Given the description of an element on the screen output the (x, y) to click on. 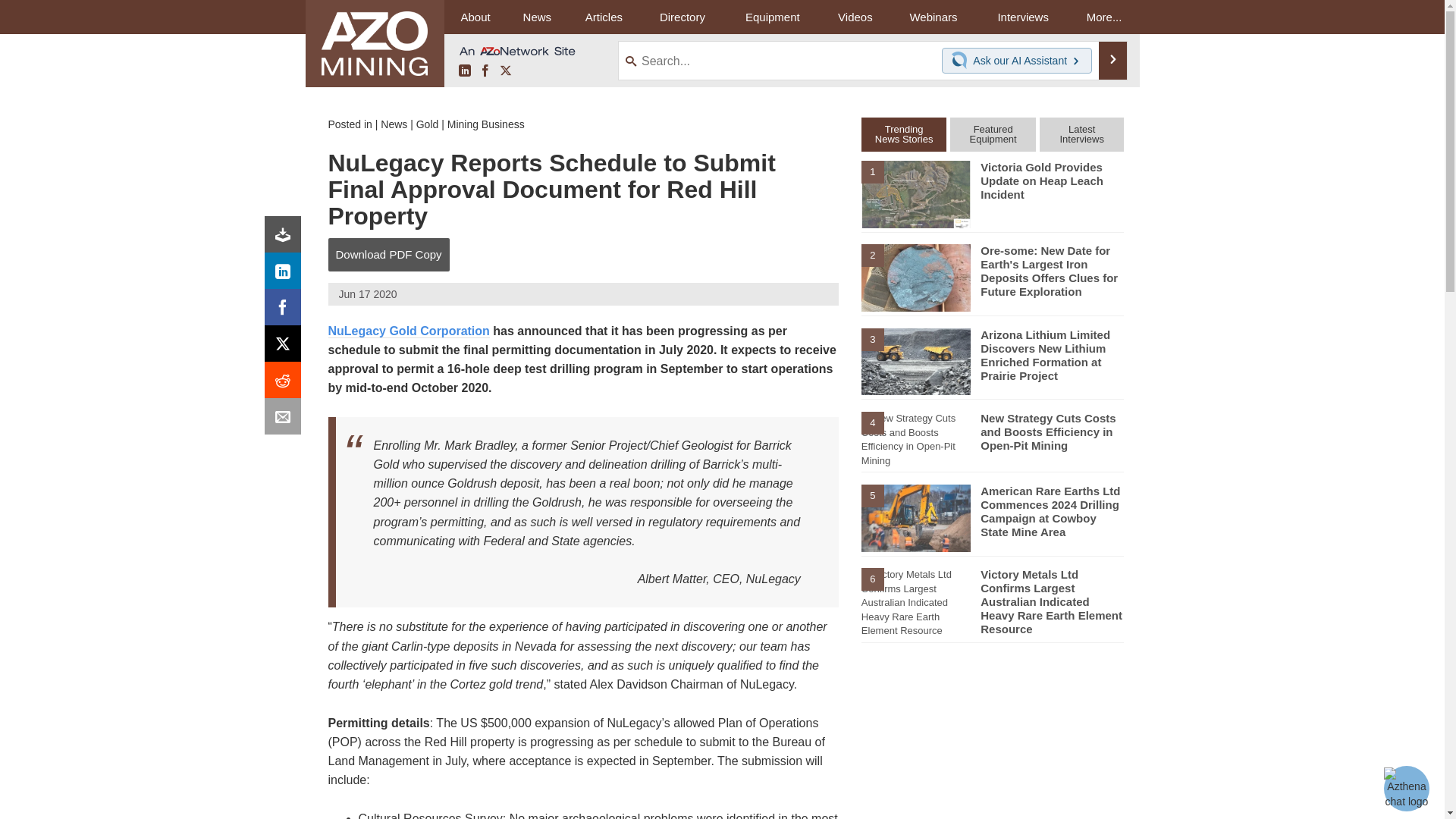
More... (1104, 17)
Search (1112, 60)
LinkedIn (285, 275)
Mining Business (485, 123)
LinkedIn (464, 71)
Equipment (772, 17)
Directory (681, 17)
News (536, 17)
Download PDF copy (285, 238)
Articles (603, 17)
News (393, 123)
X (285, 348)
About (475, 17)
Interviews (1022, 17)
